Given the description of an element on the screen output the (x, y) to click on. 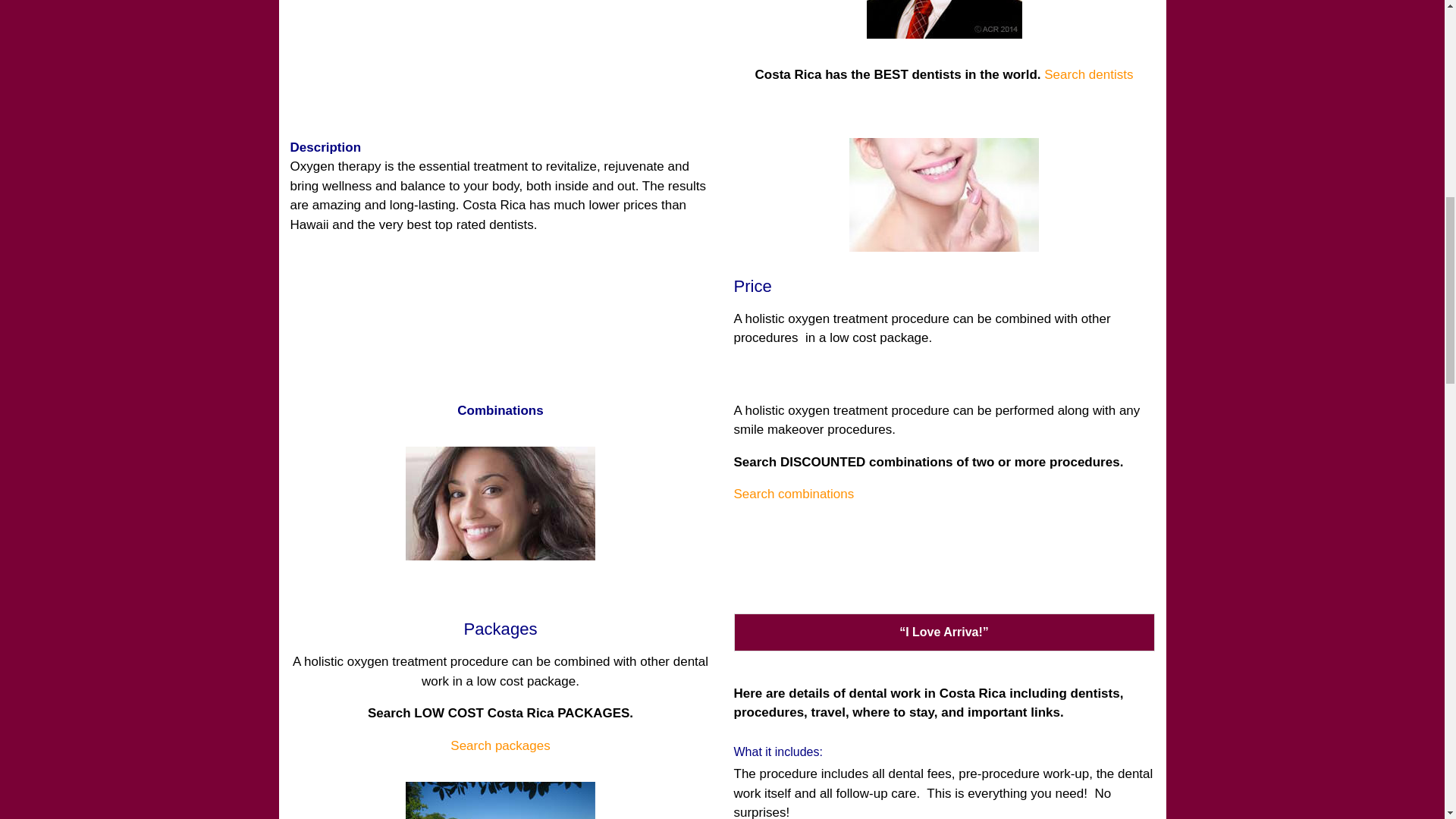
dr-ignaciovargas (944, 19)
packages-picture (500, 800)
Search dentists (1087, 74)
Search packages (499, 745)
dental-combinations (500, 503)
Search combinations (793, 493)
